Given the description of an element on the screen output the (x, y) to click on. 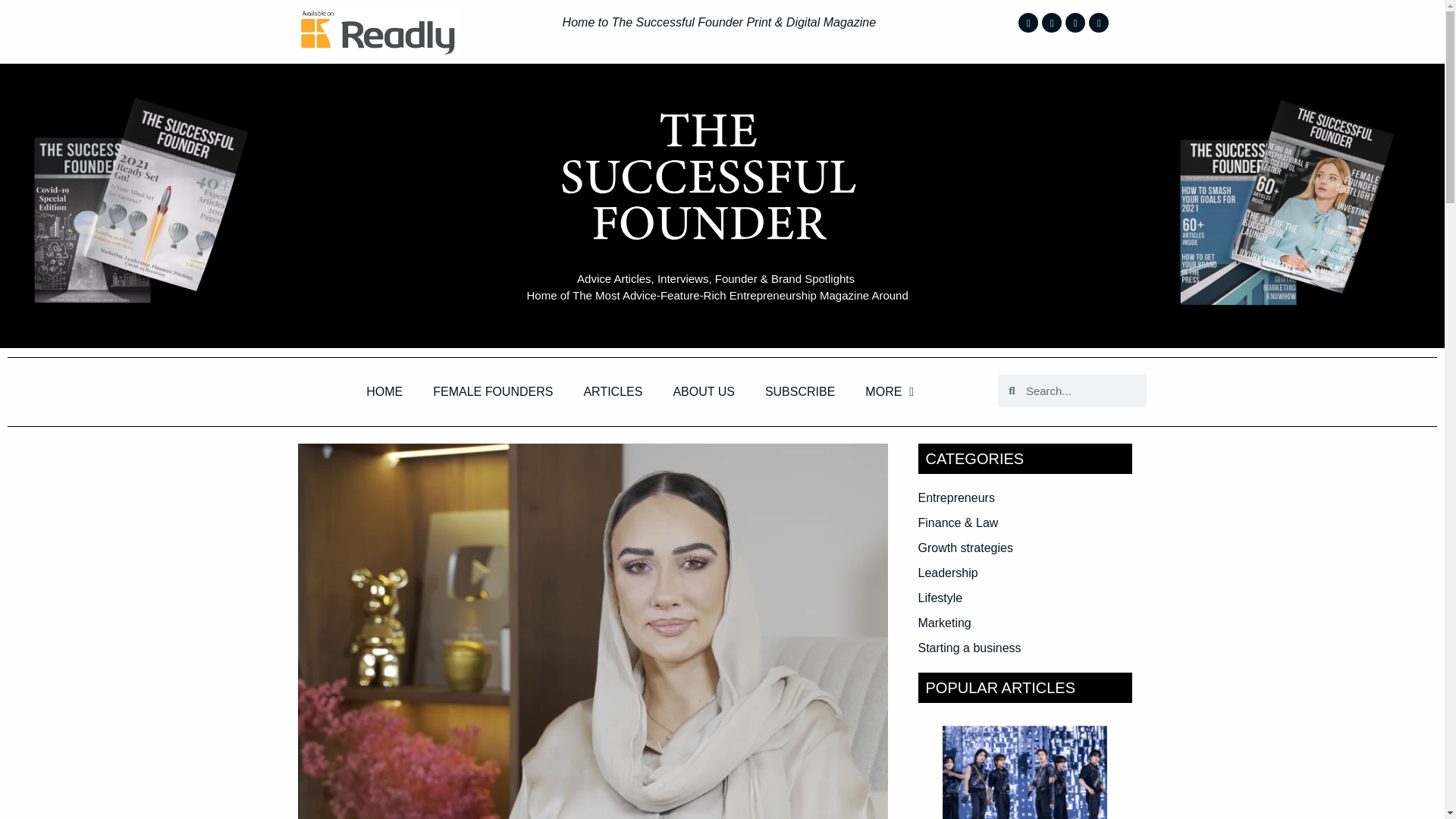
FEMALE FOUNDERS (492, 391)
MORE (889, 391)
HOME (383, 391)
ABOUT US (703, 391)
SUBSCRIBE (799, 391)
ARTICLES (612, 391)
